Given the description of an element on the screen output the (x, y) to click on. 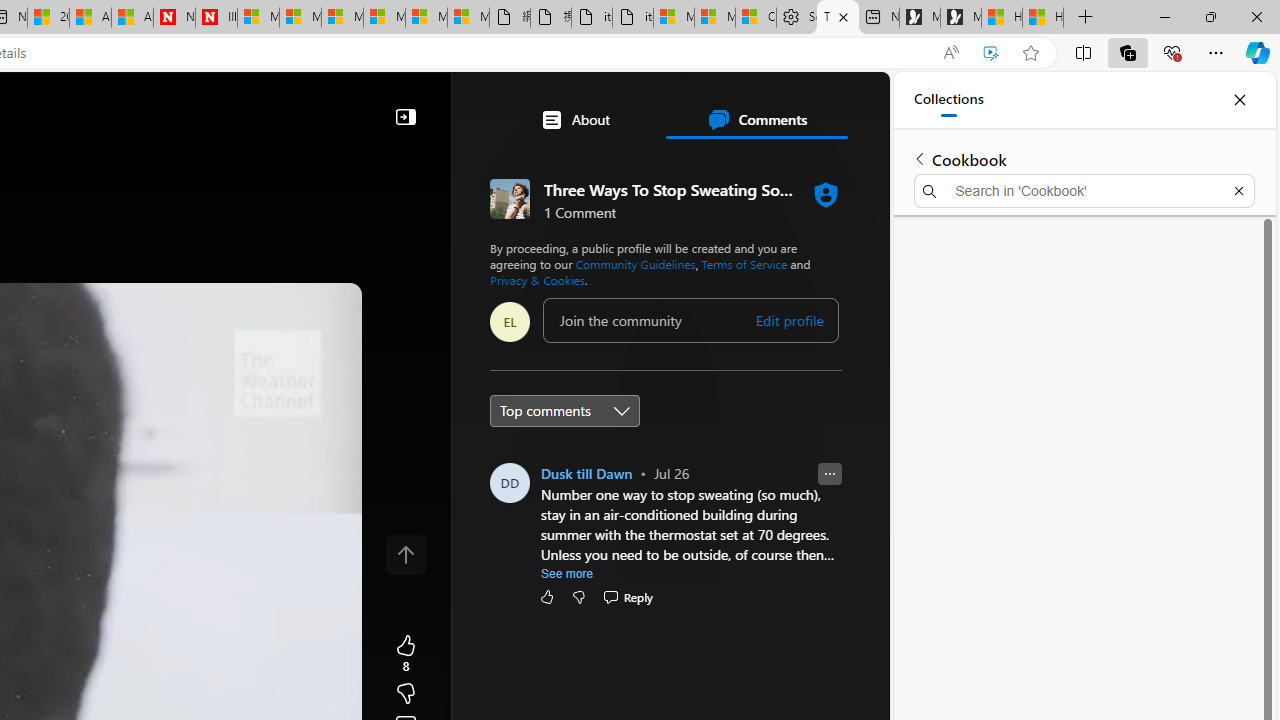
Edit profile (789, 321)
Comments (756, 119)
